Given the description of an element on the screen output the (x, y) to click on. 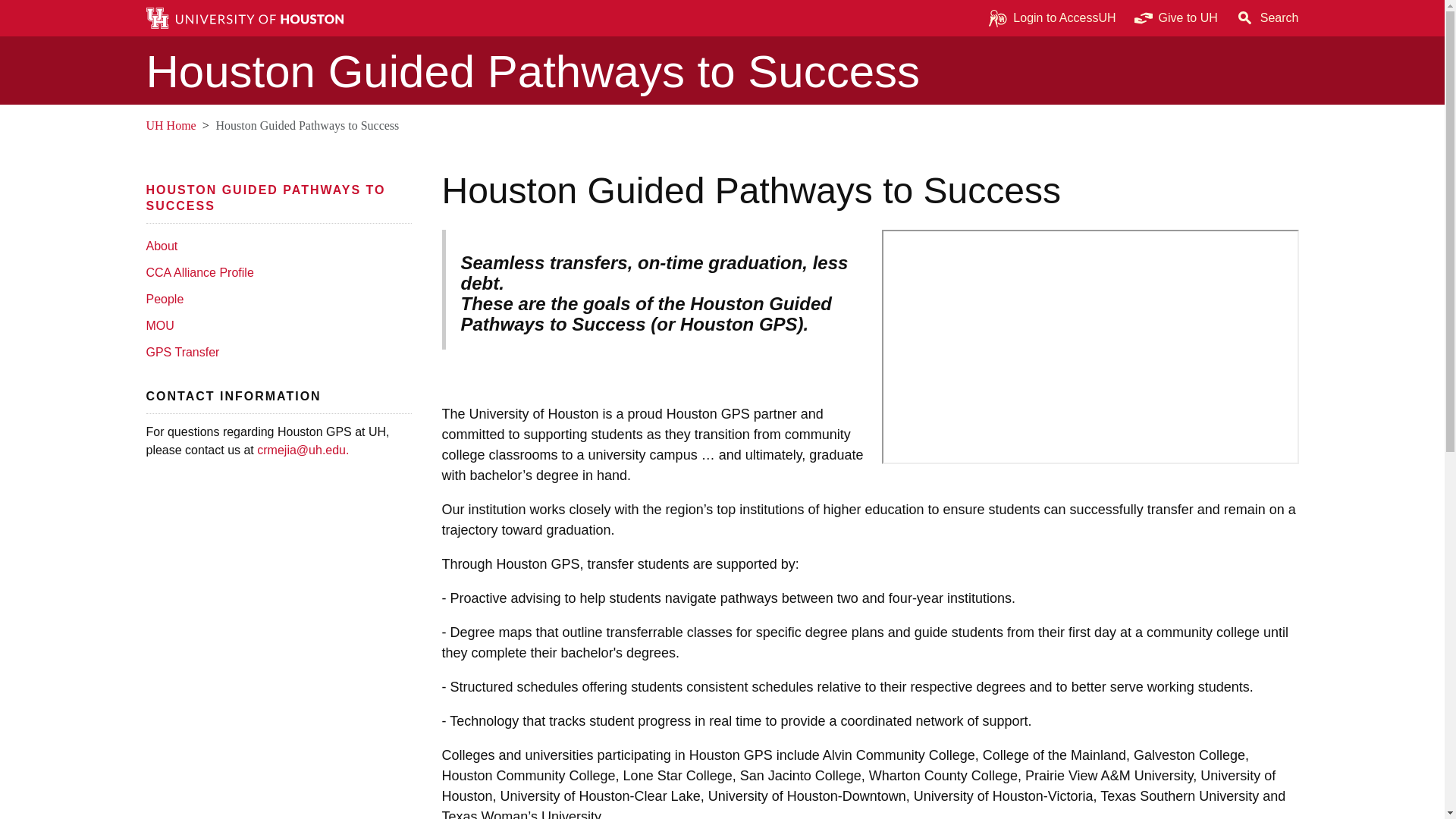
Search (1267, 18)
About (274, 245)
GPS Transfer (274, 352)
GPS Transfer (274, 352)
UH Home (170, 124)
MOU (274, 325)
Give to UH (1176, 18)
Houston Guided Pathways to Success (265, 197)
CCA Alliance Profile (274, 272)
University of Houston (376, 431)
Houston Guided Pathways to Success (721, 71)
HOUSTON GUIDED PATHWAYS TO SUCCESS (265, 197)
University of Houston (154, 124)
MOU (274, 325)
About (274, 245)
